Given the description of an element on the screen output the (x, y) to click on. 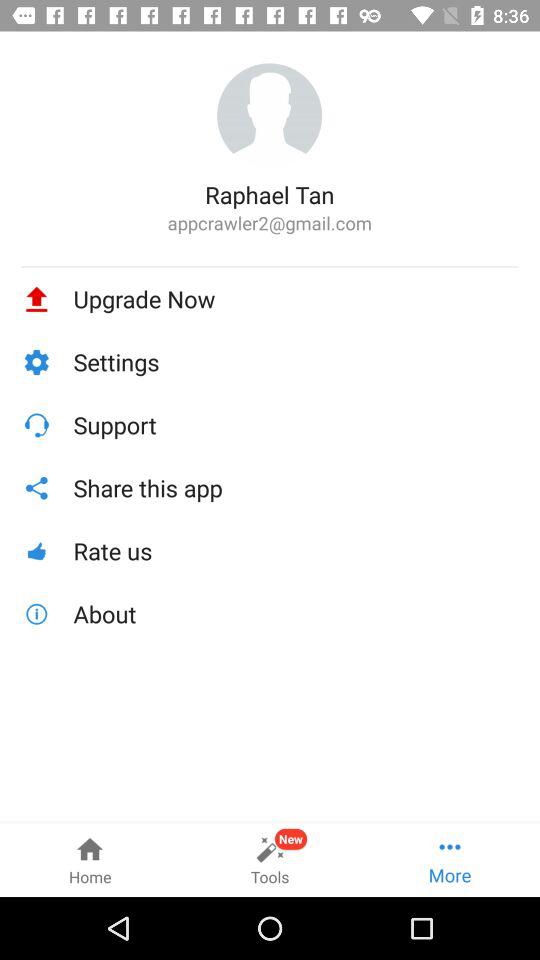
open upgrade now item (296, 299)
